Given the description of an element on the screen output the (x, y) to click on. 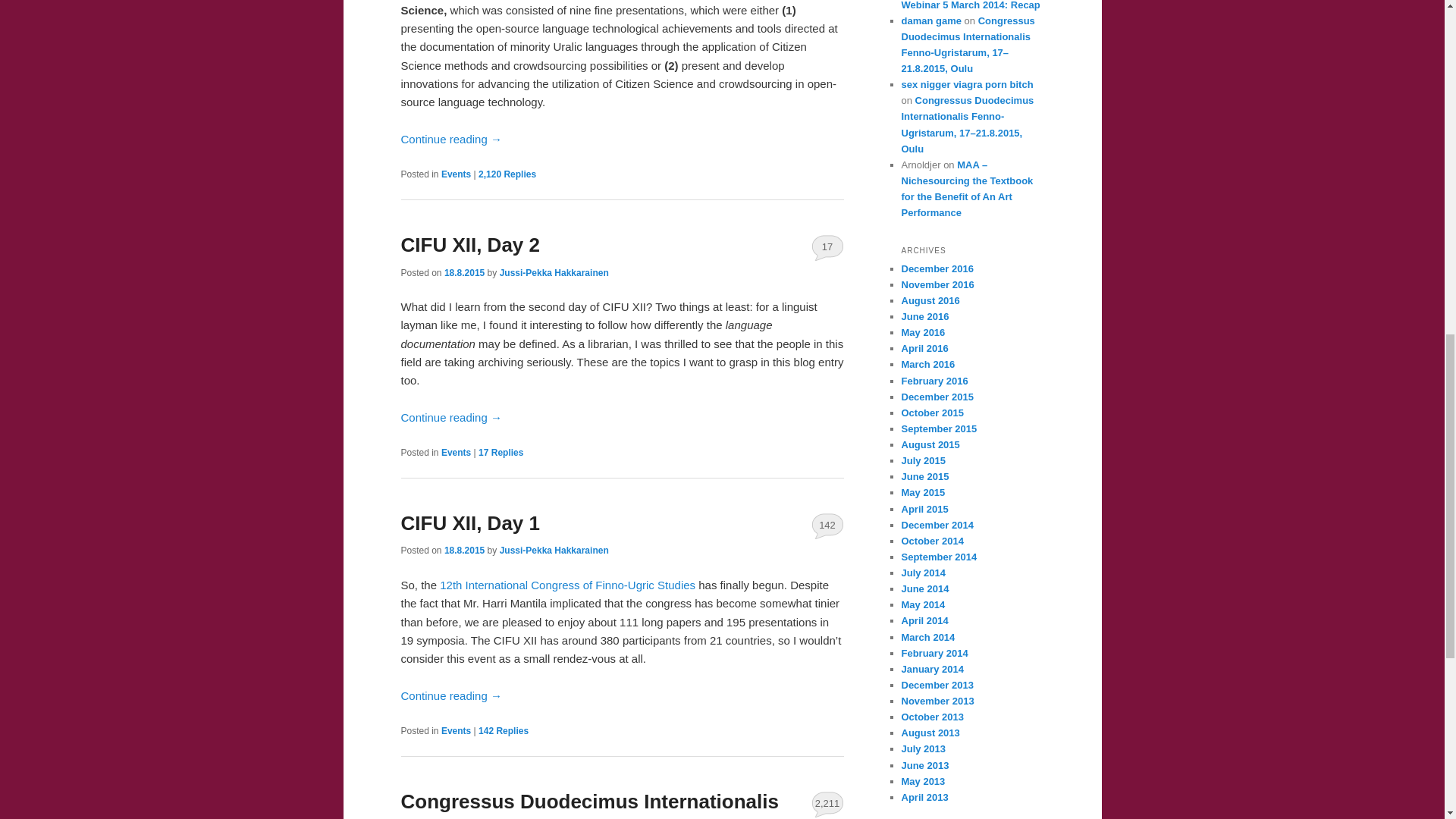
17 Replies (500, 452)
12th International Congress of Finno-Ugric Studies (568, 584)
142 Replies (503, 730)
18.8.2015 (464, 271)
View all posts by Jussi-Pekka Hakkarainen (553, 271)
17 (827, 247)
Jussi-Pekka Hakkarainen (553, 550)
Events (455, 452)
View all posts by Jussi-Pekka Hakkarainen (553, 550)
17.32 (464, 271)
Jussi-Pekka Hakkarainen (553, 271)
CIFU XII, Day 2 (470, 244)
Events (455, 730)
2,120 Replies (507, 173)
CIFU XII, Day 1 (470, 522)
